Given the description of an element on the screen output the (x, y) to click on. 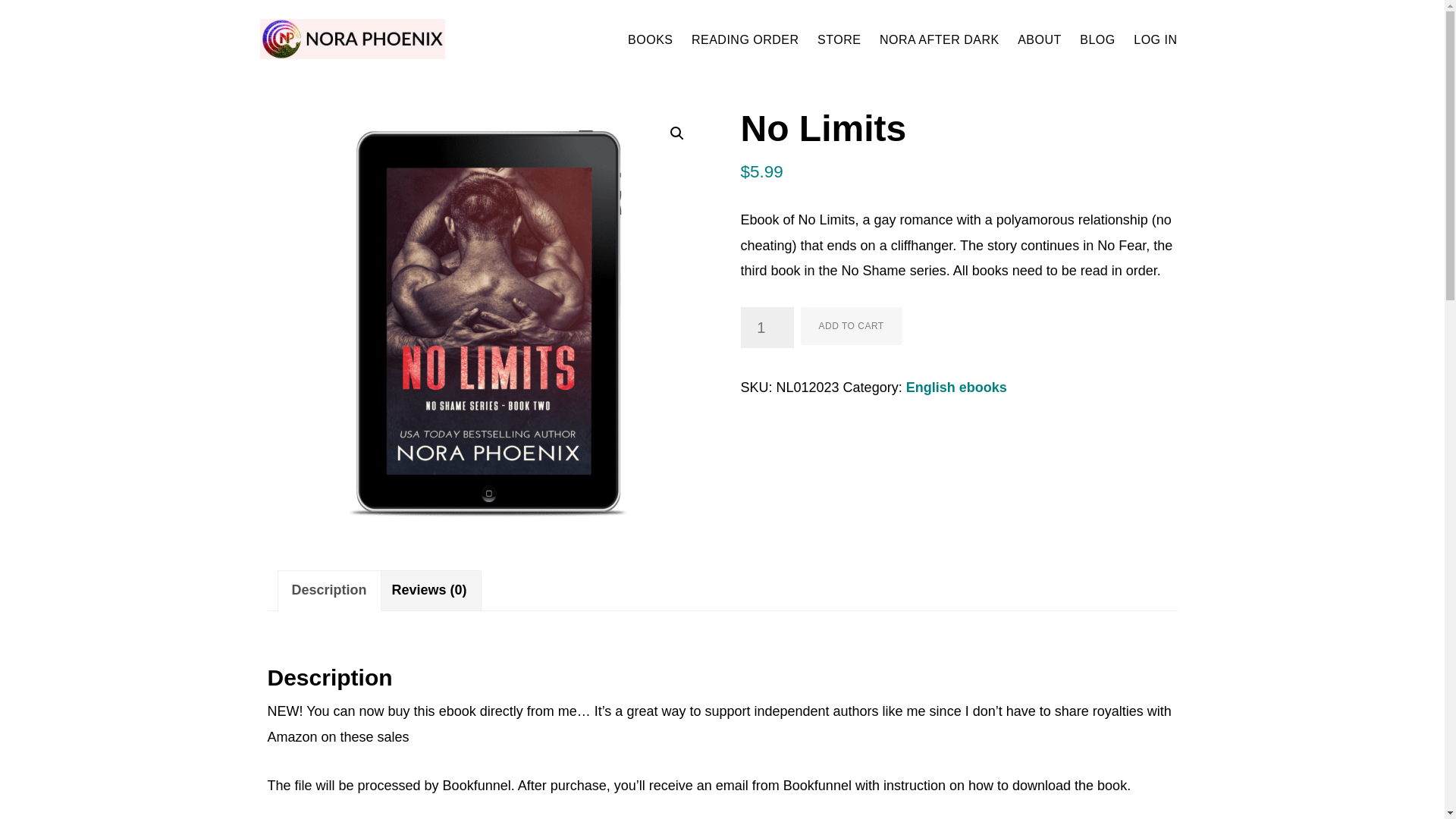
ABOUT (1039, 39)
STORE (838, 39)
NORA AFTER DARK (939, 39)
LOG IN (1155, 39)
ADD TO CART (851, 325)
READING ORDER (745, 39)
BOOKS (649, 39)
BLOG (1096, 39)
